Given the description of an element on the screen output the (x, y) to click on. 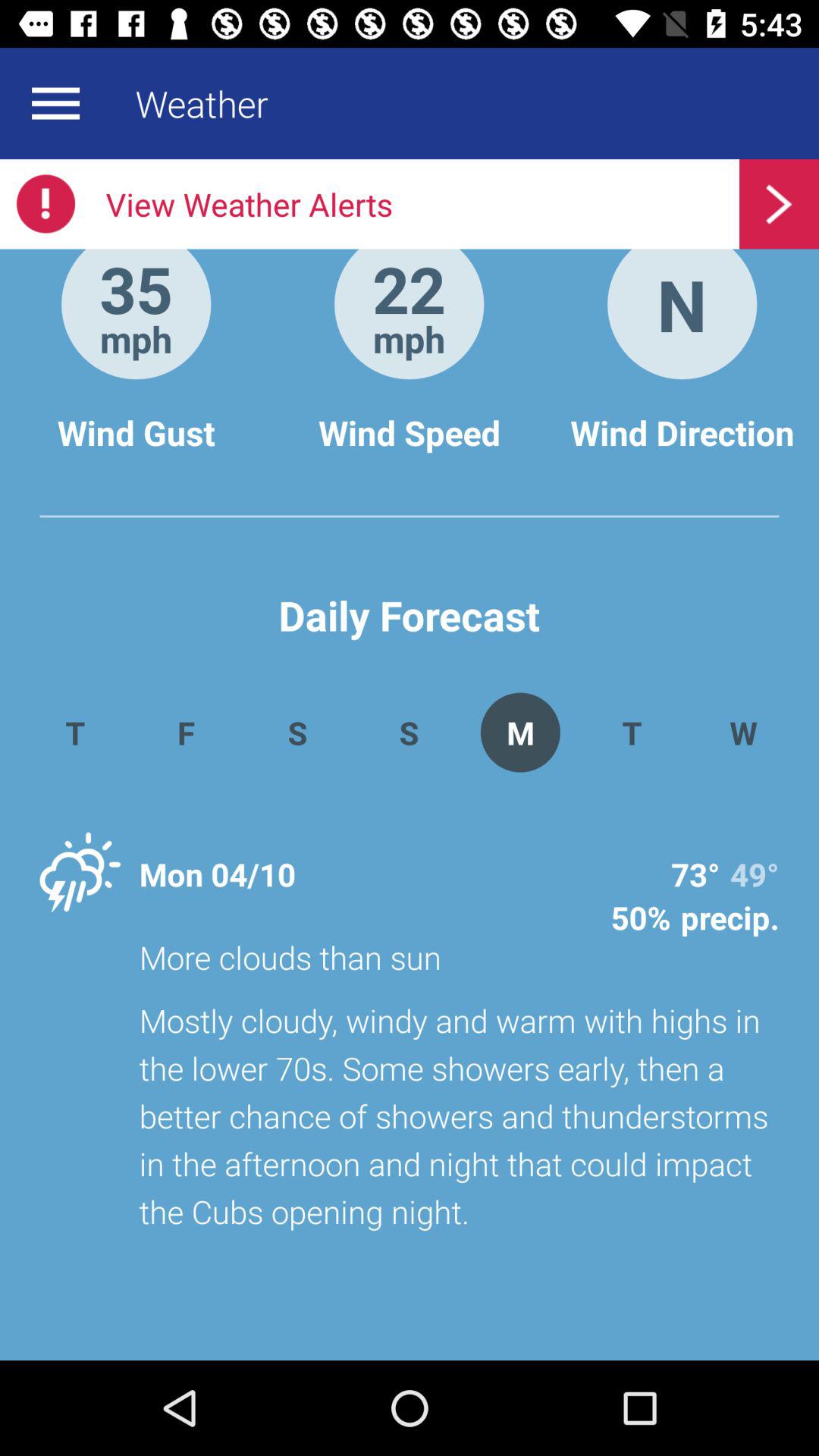
scroll to m app (520, 732)
